Given the description of an element on the screen output the (x, y) to click on. 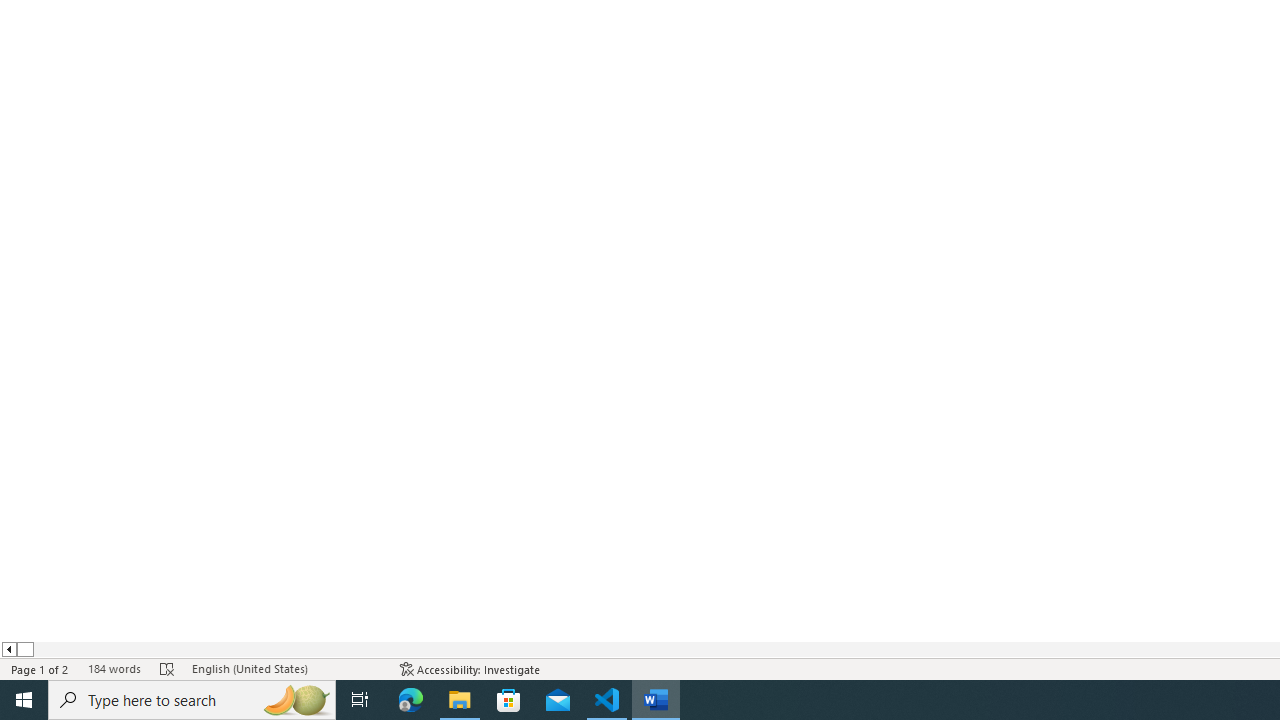
Spelling and Grammar Check Errors (168, 668)
Visual Studio Code - 1 running window (607, 699)
Word - 1 running window (656, 699)
Microsoft Edge (411, 699)
Column left (8, 649)
Page Number Page 1 of 2 (39, 668)
File Explorer - 1 running window (460, 699)
Type here to search (191, 699)
Word Count 184 words (113, 668)
Task View (359, 699)
Search highlights icon opens search home window (295, 699)
Microsoft Store (509, 699)
